Given the description of an element on the screen output the (x, y) to click on. 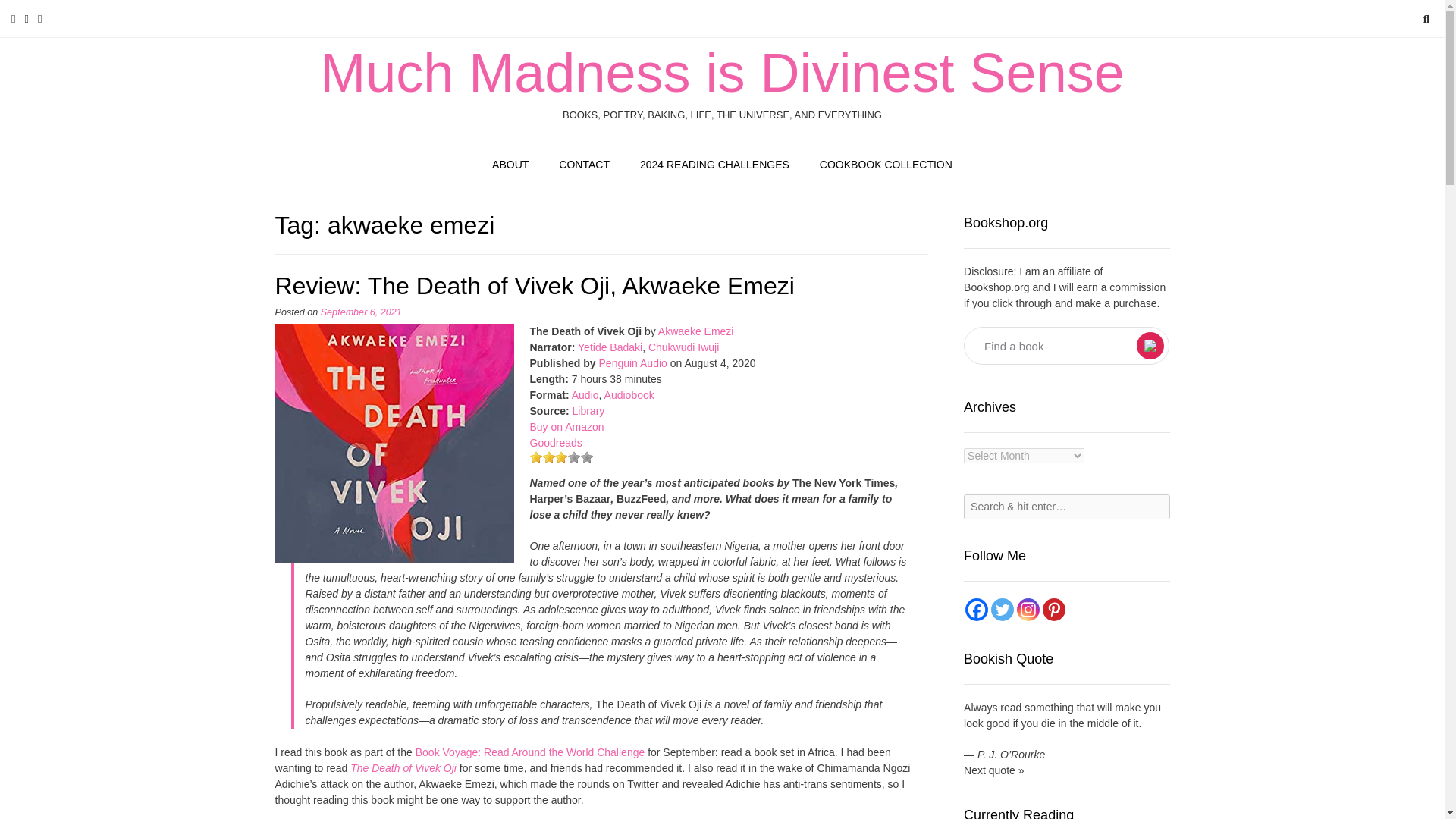
The Death of Vivek Oji (403, 767)
Audio (585, 395)
COOKBOOK COLLECTION (886, 165)
Review: The Death of Vivek Oji, Akwaeke Emezi (534, 285)
September 6, 2021 (360, 312)
CONTACT (583, 165)
Akwaeke Emezi (695, 331)
Pinterest (1053, 609)
Buy on Amazon (566, 426)
Library (588, 410)
Book Voyage: Read Around the World Challenge (529, 752)
Much Madness is Divinest Sense (722, 72)
Review: The Death of Vivek Oji, Akwaeke Emezi (394, 442)
Goodreads (554, 442)
2024 READING CHALLENGES (714, 165)
